Given the description of an element on the screen output the (x, y) to click on. 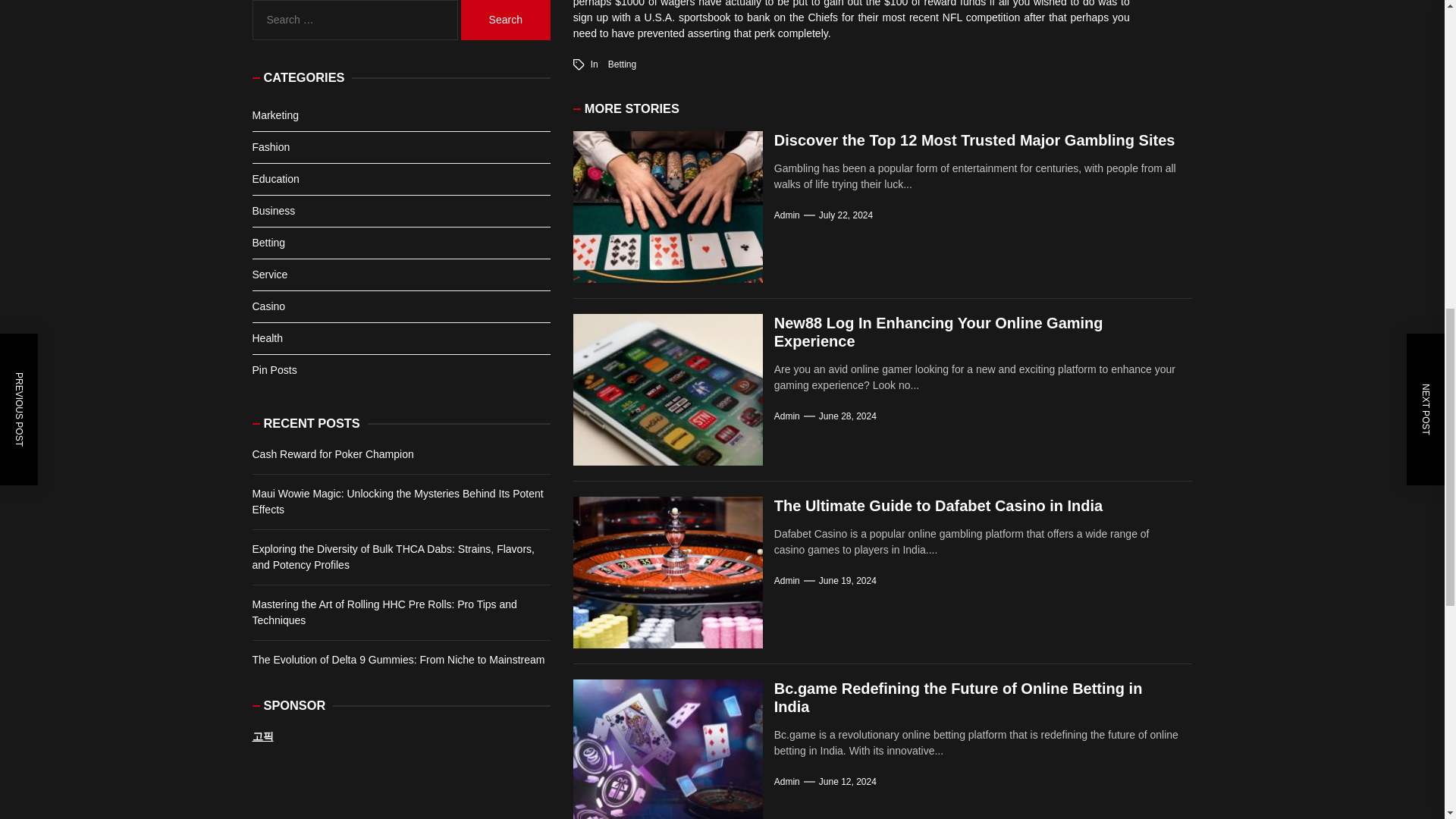
Betting (622, 63)
